Given the description of an element on the screen output the (x, y) to click on. 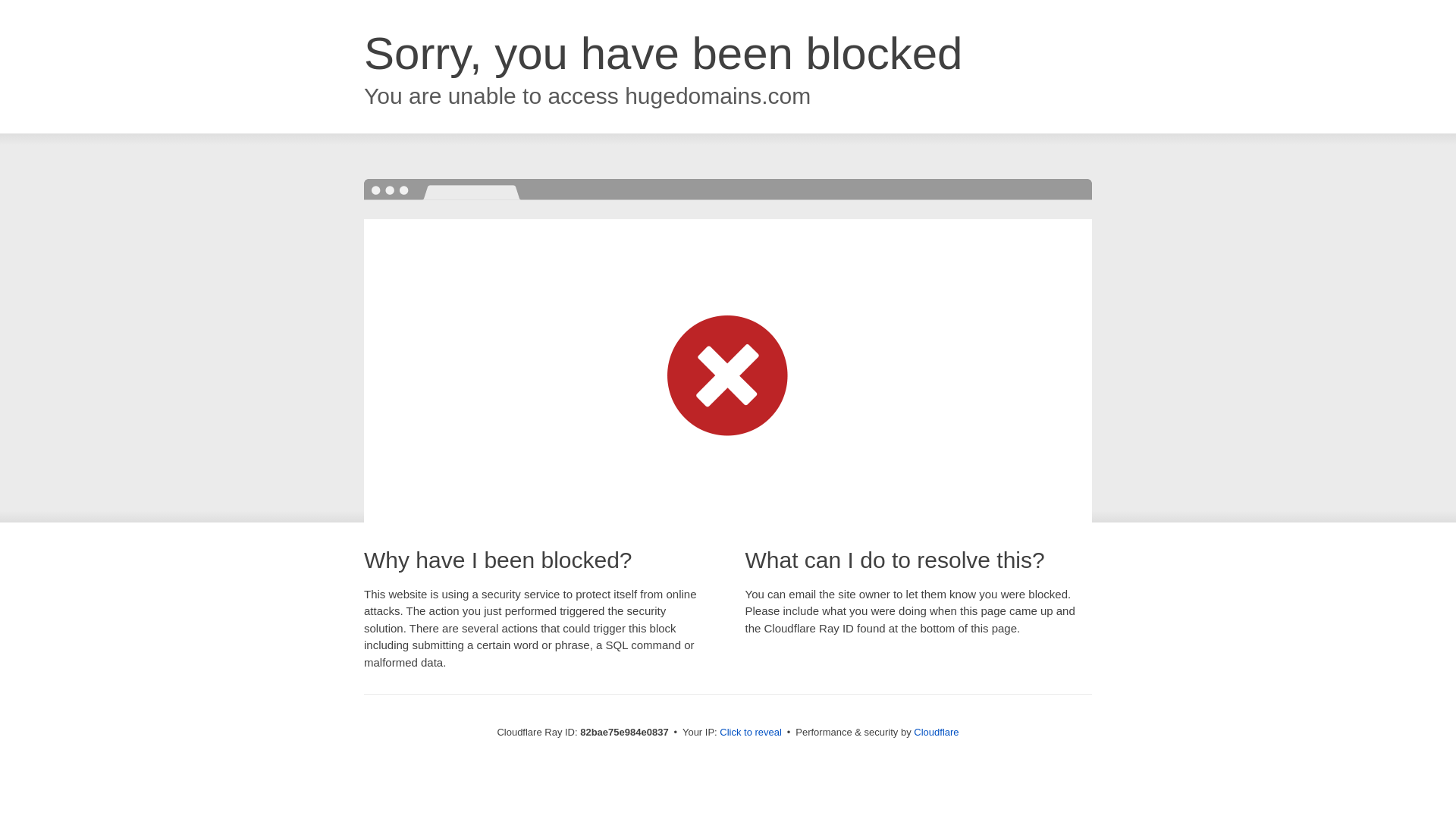
Click to reveal Element type: text (750, 732)
Cloudflare Element type: text (935, 731)
